Given the description of an element on the screen output the (x, y) to click on. 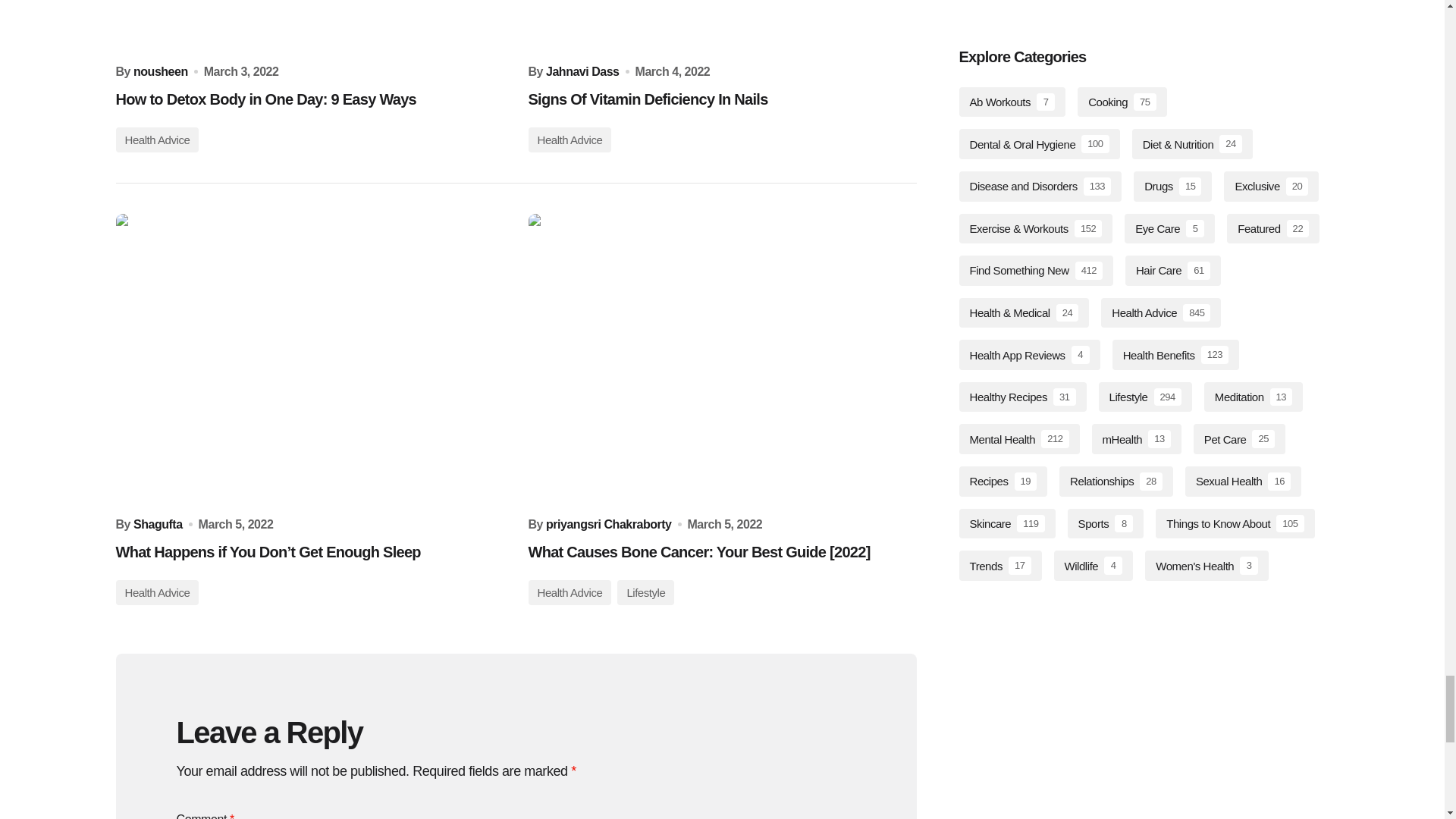
What Happens if You Don't Get Enough Sleep 19 (309, 359)
How to Detox Body in One Day: 9 Easy Ways 17 (309, 26)
Signs Of Vitamin Deficiency In Nails 18 (721, 26)
